Given the description of an element on the screen output the (x, y) to click on. 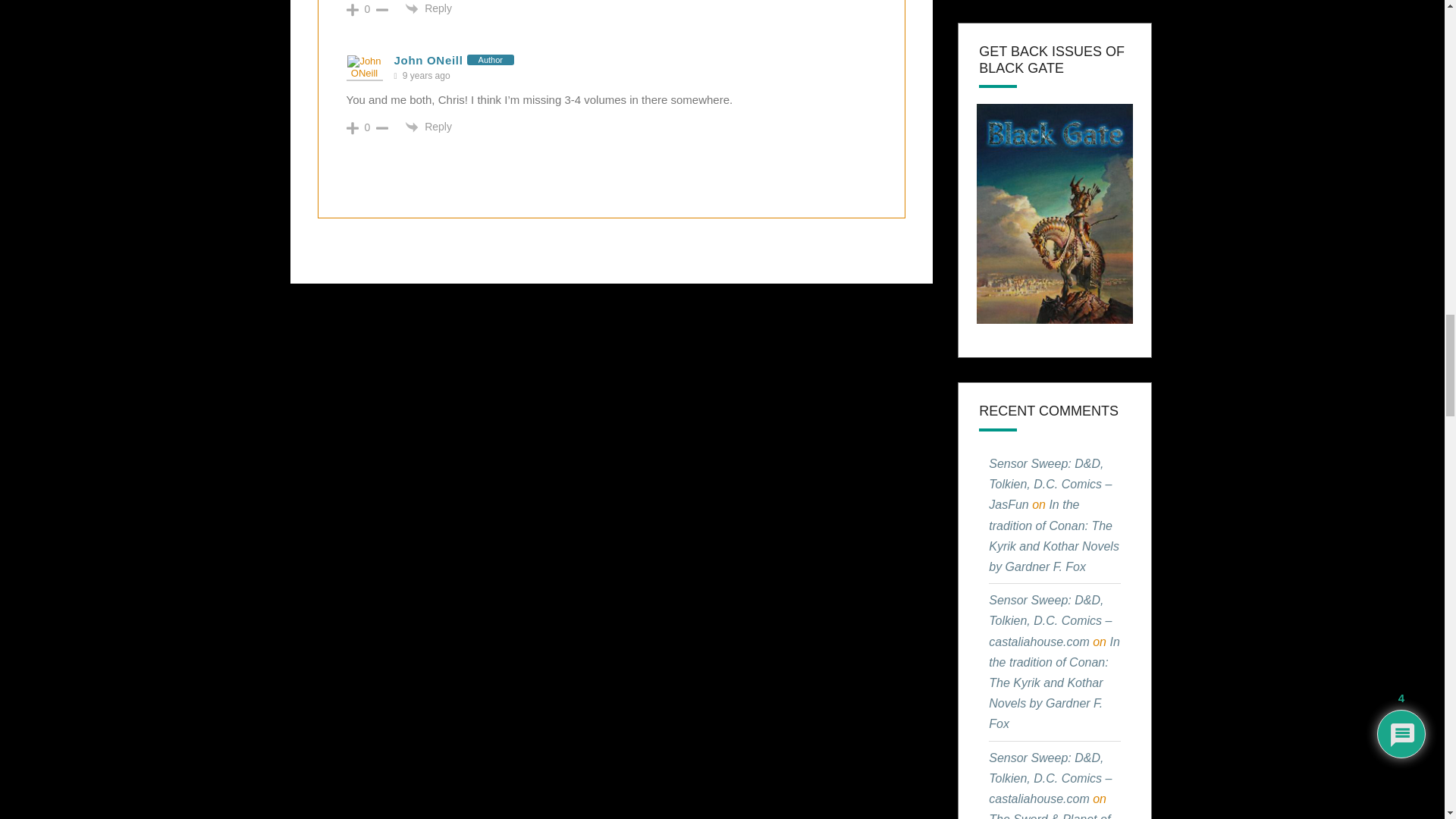
John ONeill (428, 60)
